Given the description of an element on the screen output the (x, y) to click on. 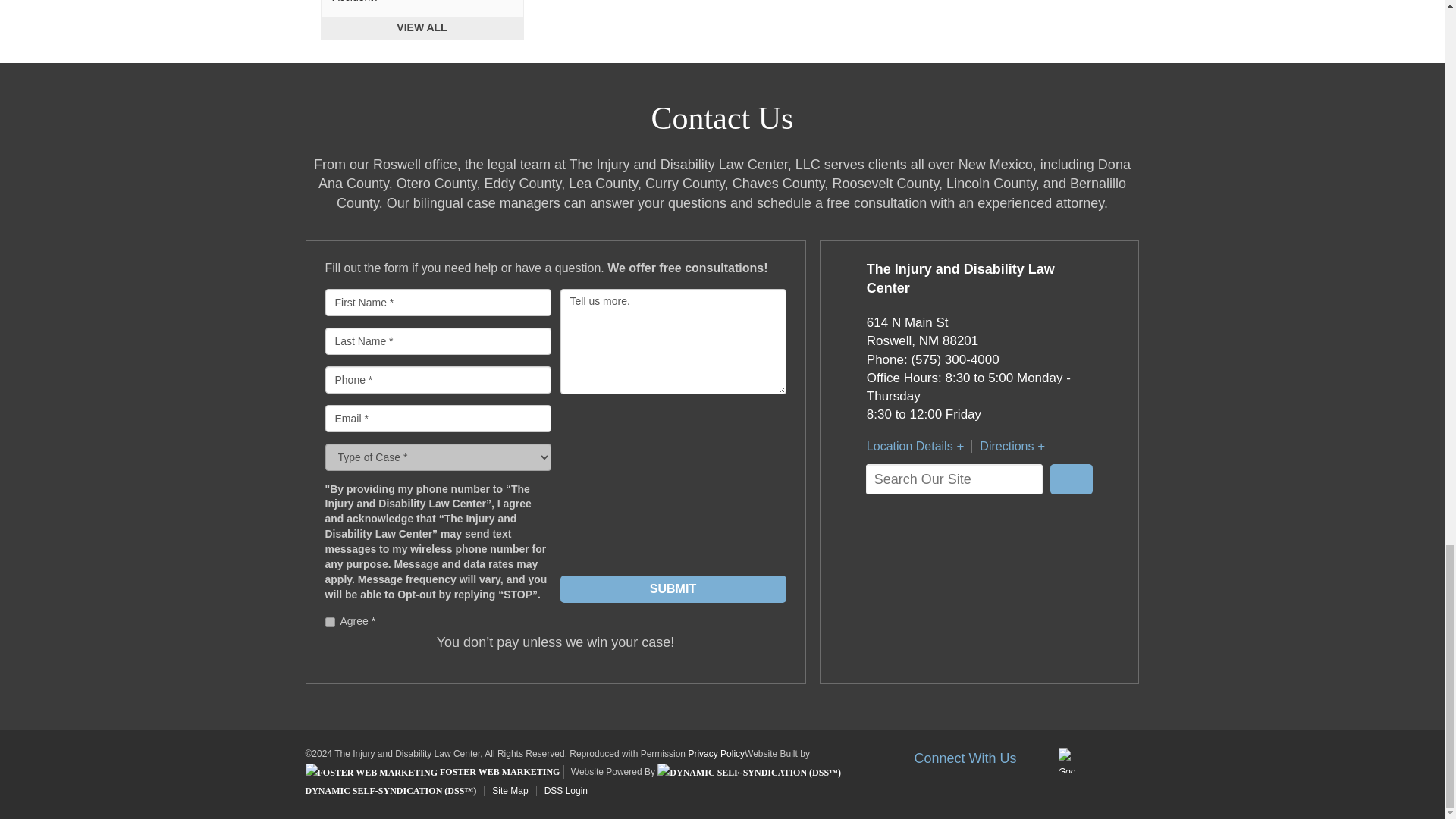
VIEW ALL (421, 28)
Search (1071, 479)
Agree (329, 622)
